Given the description of an element on the screen output the (x, y) to click on. 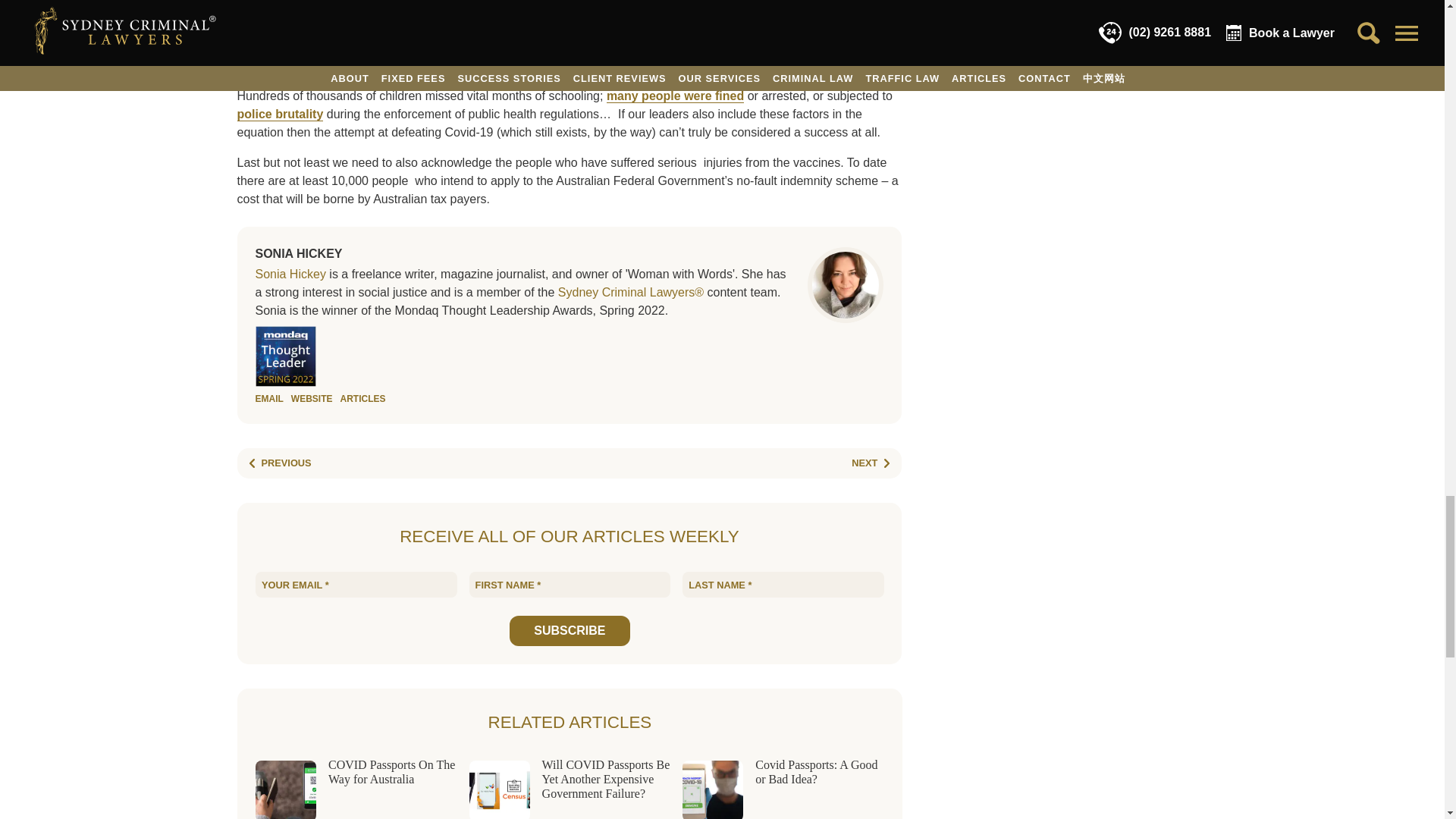
ARTICLES (362, 398)
NEXT (873, 462)
police brutality (563, 123)
many people were fined (675, 96)
PREVIOUS (276, 462)
WEBSITE (312, 398)
EMAIL (268, 398)
Sonia Hickey (289, 273)
